Given the description of an element on the screen output the (x, y) to click on. 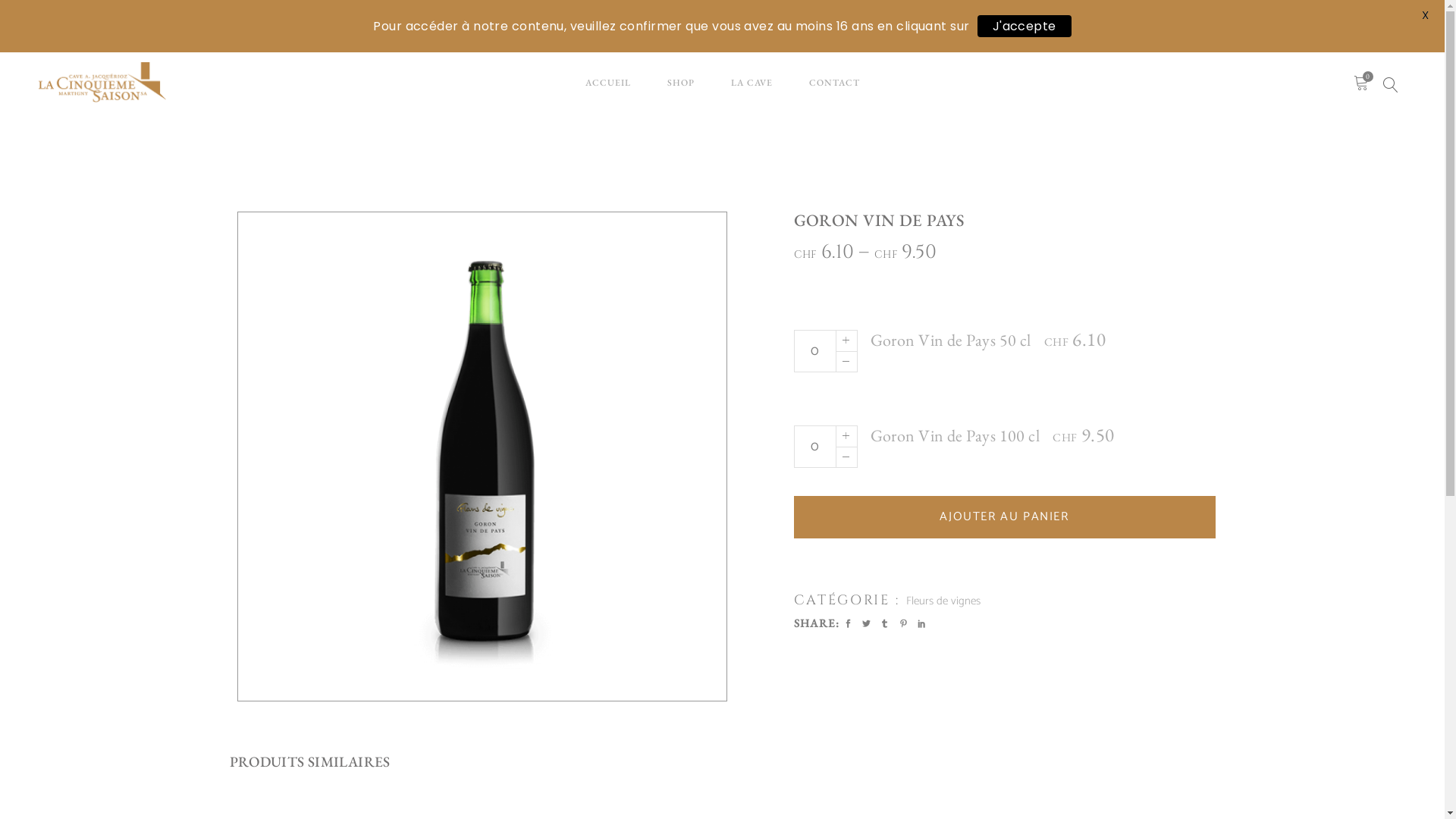
0 Element type: text (1361, 83)
LA CAVE Element type: text (751, 82)
SHOP Element type: text (680, 82)
AJOUTER AU PANIER Element type: text (1003, 516)
Fleurs de vignes Element type: text (943, 600)
CONTACT Element type: text (834, 82)
Qty Element type: hover (814, 446)
J'accepte Element type: text (1024, 26)
Qty Element type: hover (814, 350)
ACCUEIL Element type: text (608, 82)
